Given the description of an element on the screen output the (x, y) to click on. 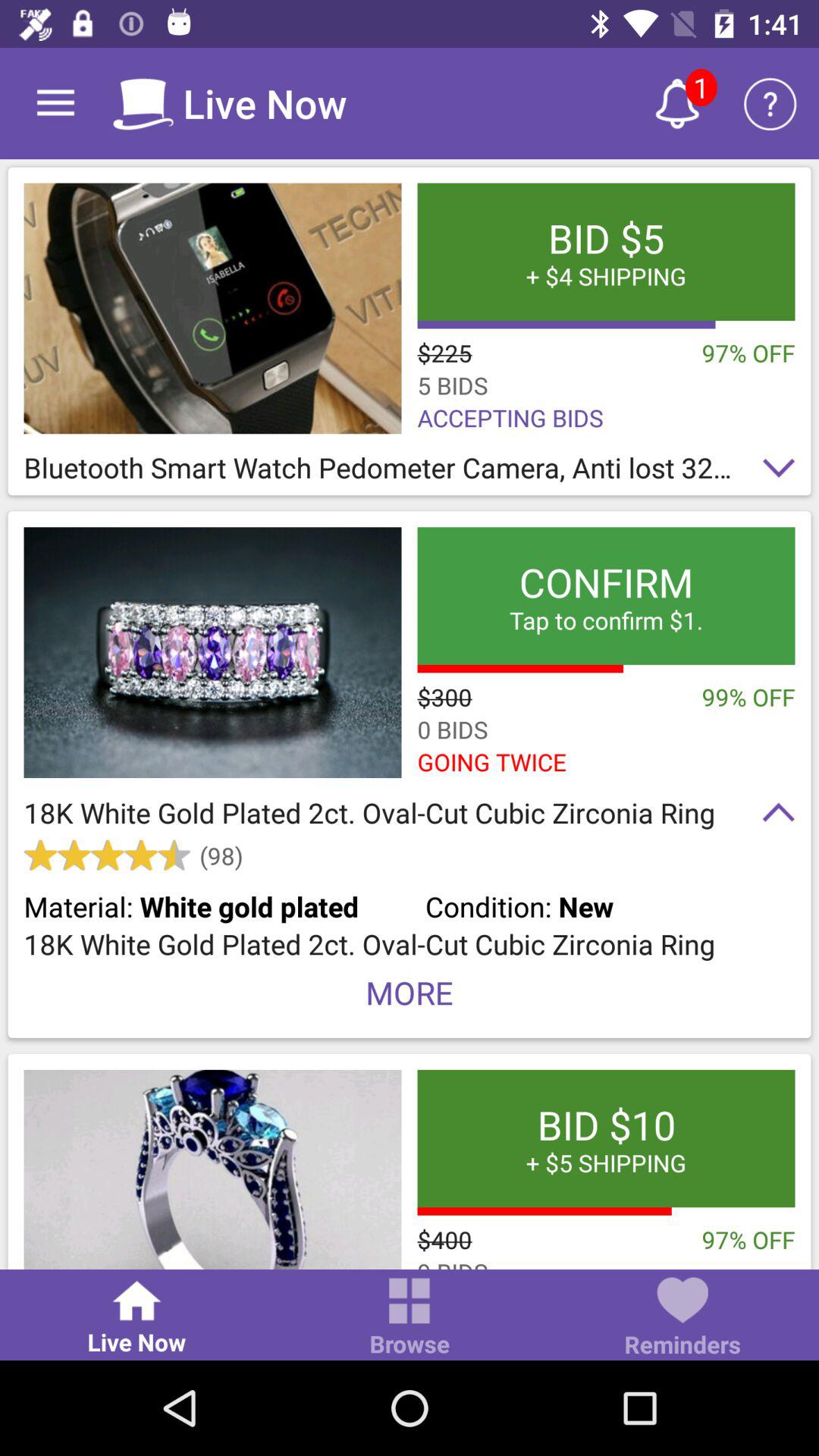
open product (212, 652)
